Given the description of an element on the screen output the (x, y) to click on. 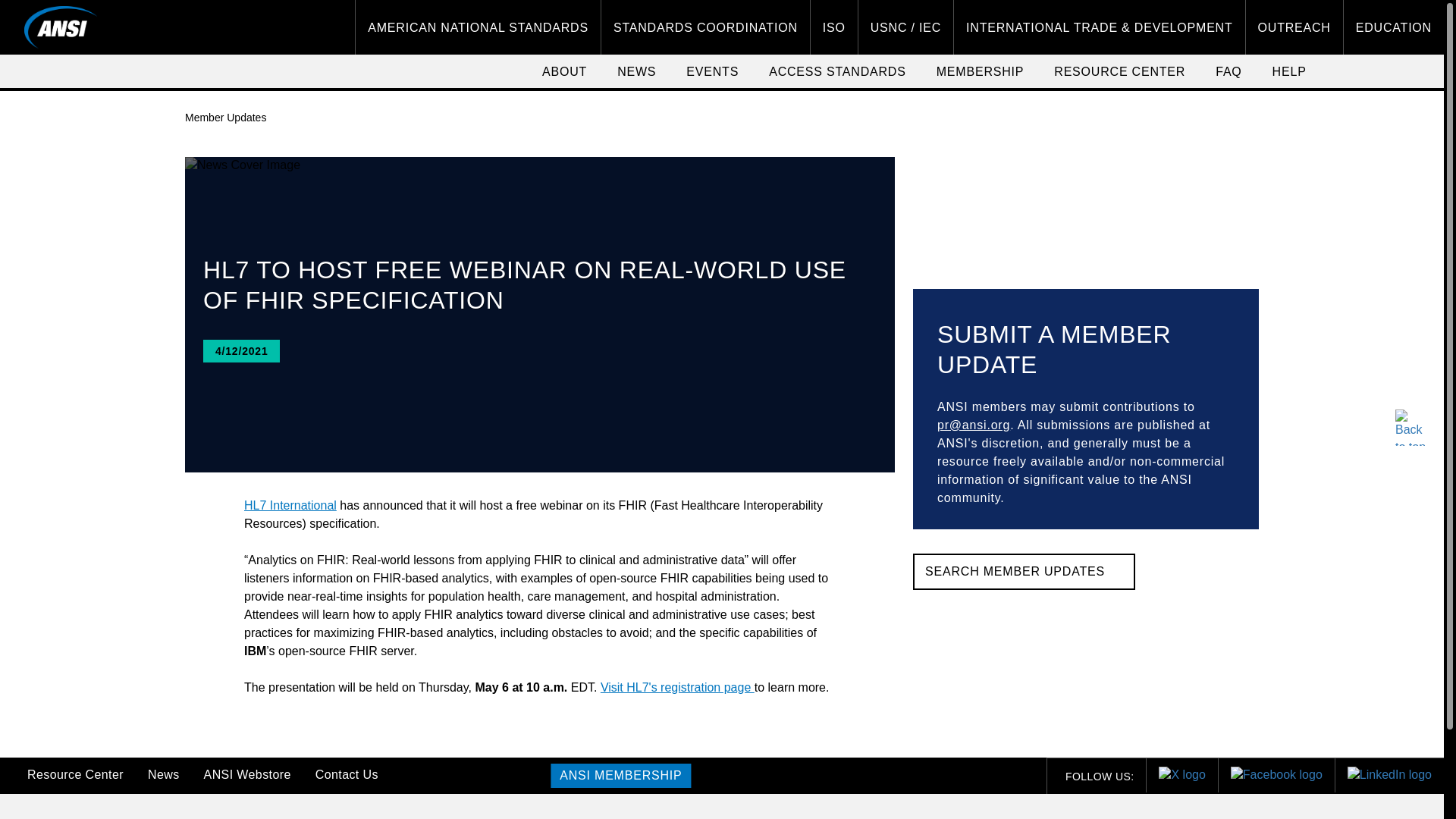
STANDARDS COORDINATION (705, 27)
Home (60, 26)
AMERICAN NATIONAL STANDARDS (477, 27)
